Given the description of an element on the screen output the (x, y) to click on. 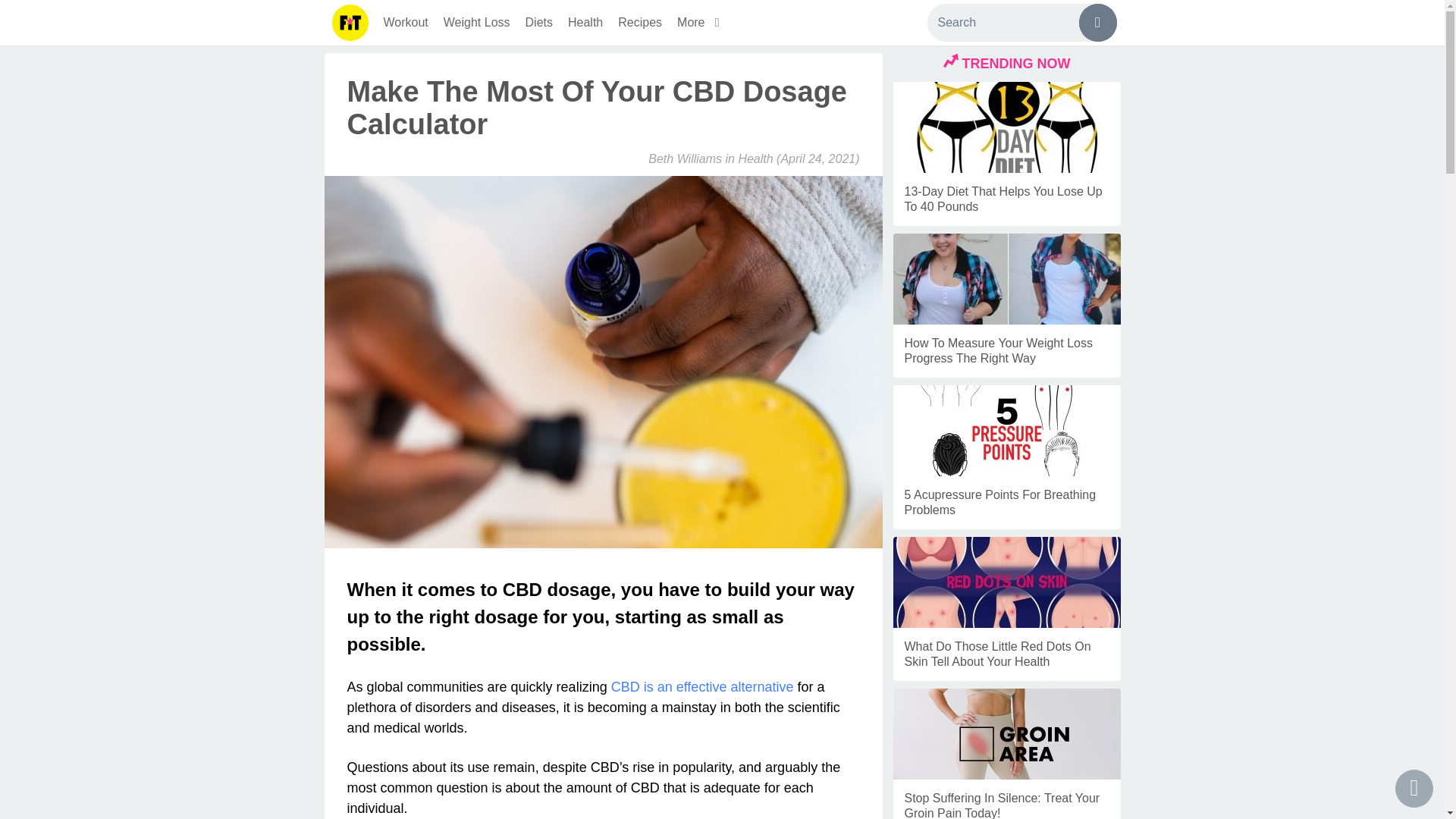
Search (1021, 22)
Health (755, 158)
CBD is an effective alternative (702, 686)
More (701, 22)
Recipes (639, 22)
Health (585, 22)
Workout (405, 22)
Weight Loss (476, 22)
Diets (539, 22)
Beth Williams (684, 158)
